Given the description of an element on the screen output the (x, y) to click on. 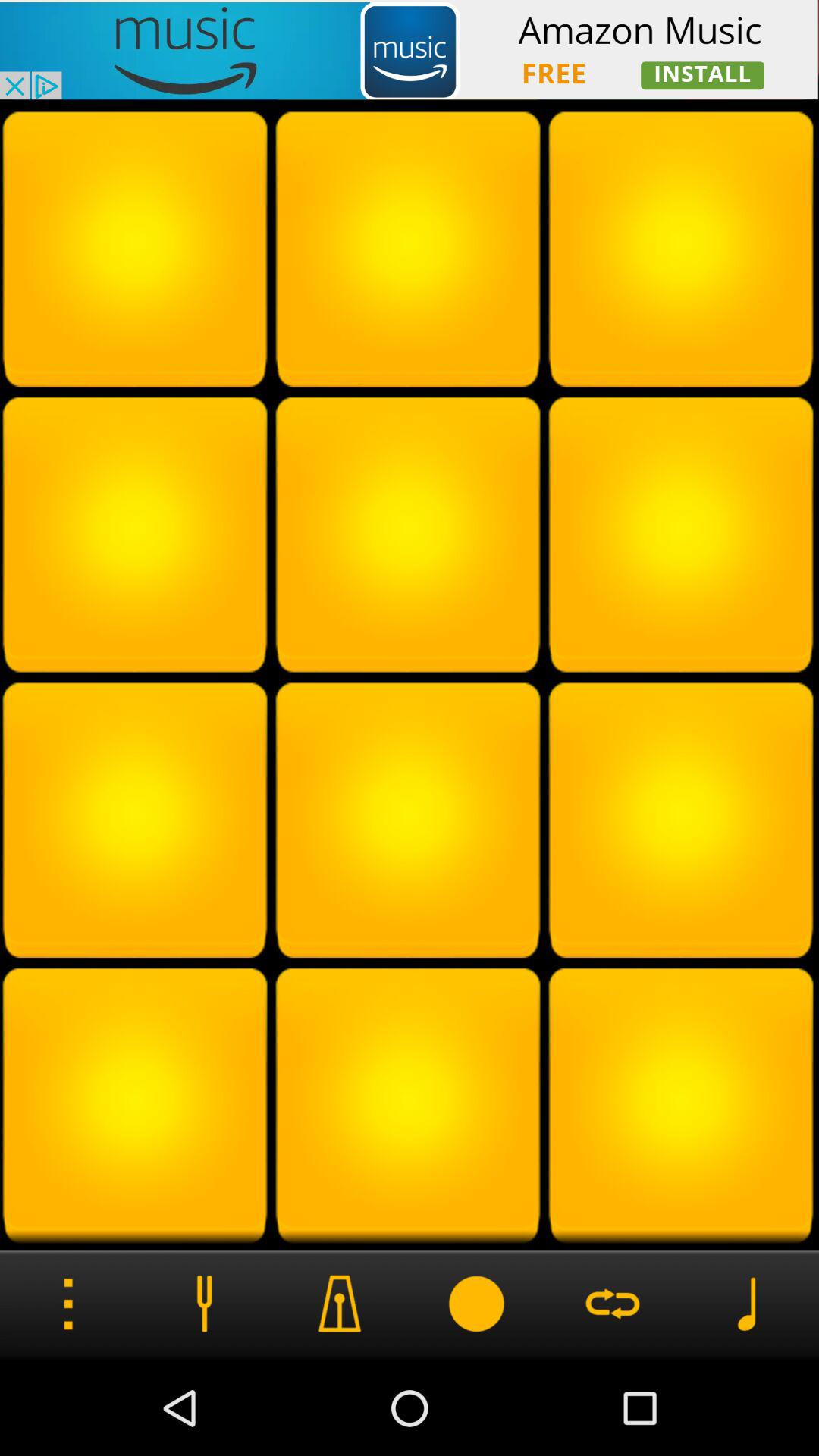
amazon music advertisement (409, 49)
